Given the description of an element on the screen output the (x, y) to click on. 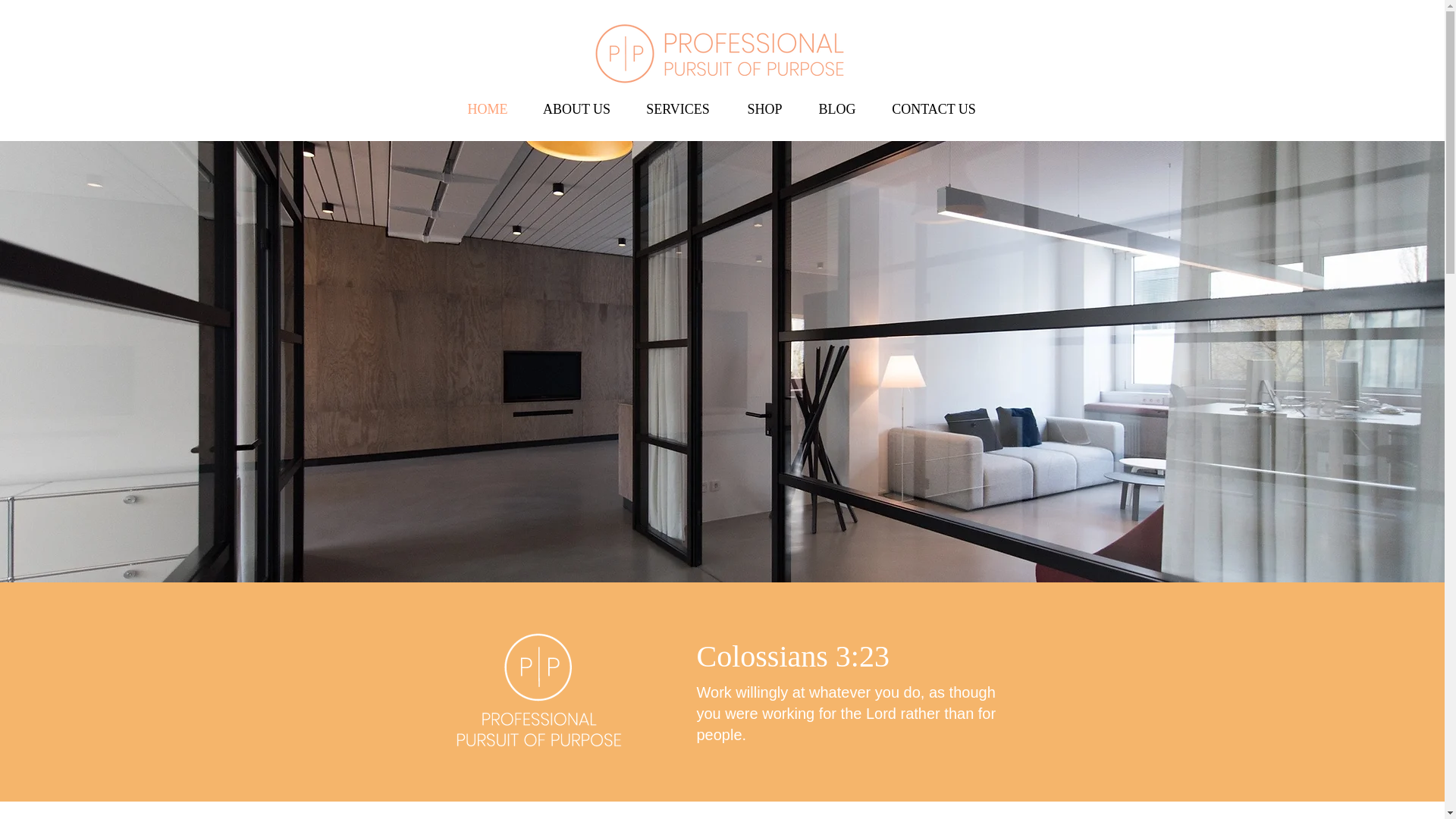
SHOP (764, 109)
SERVICES (678, 109)
CONTACT US (933, 109)
BLOG (836, 109)
HOME (486, 109)
ABOUT US (576, 109)
